Given the description of an element on the screen output the (x, y) to click on. 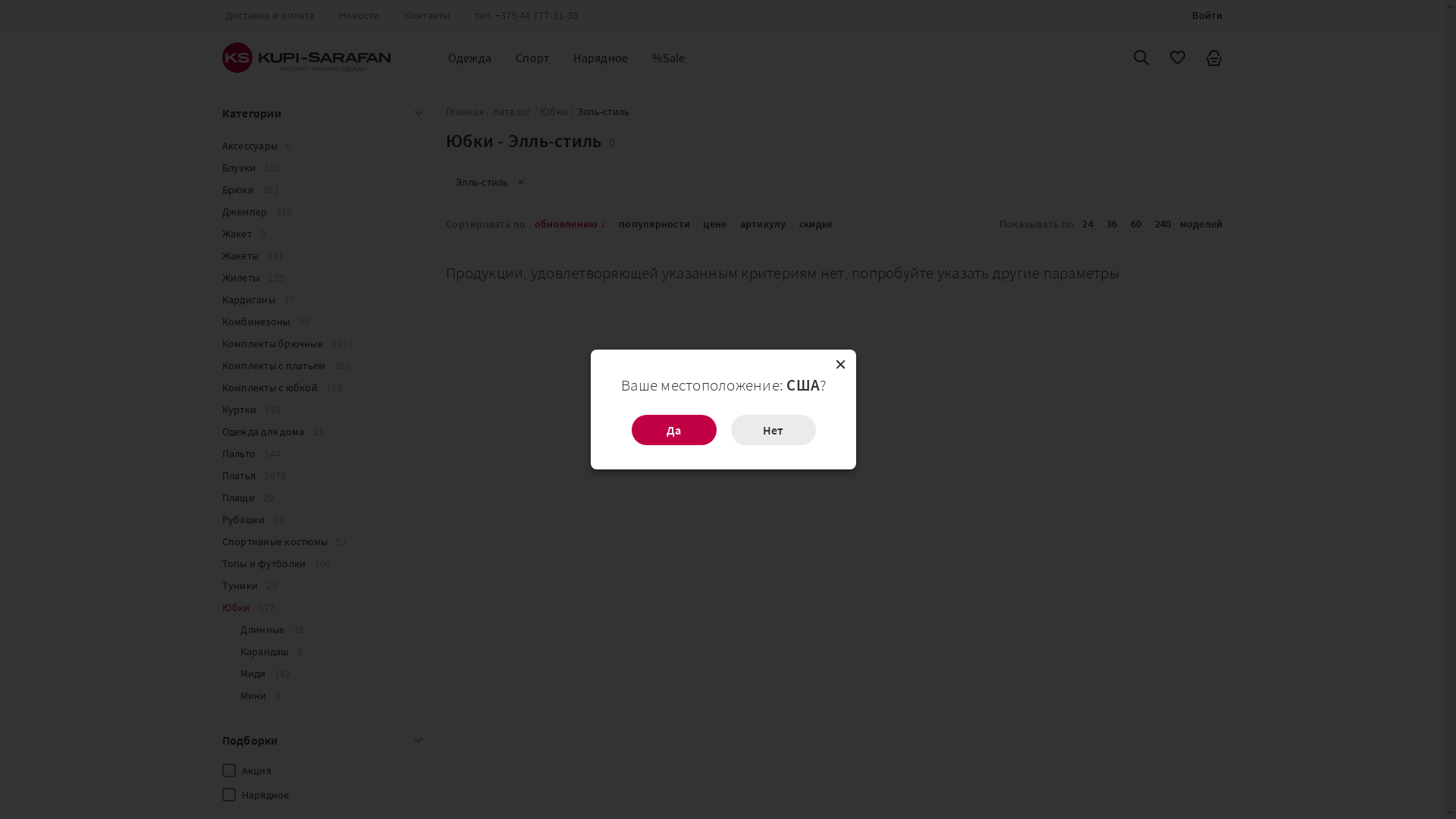
36 Element type: text (1111, 223)
24 Element type: text (1087, 223)
240 Element type: text (1162, 223)
60 Element type: text (1135, 223)
%Sale Element type: text (668, 57)
